Given the description of an element on the screen output the (x, y) to click on. 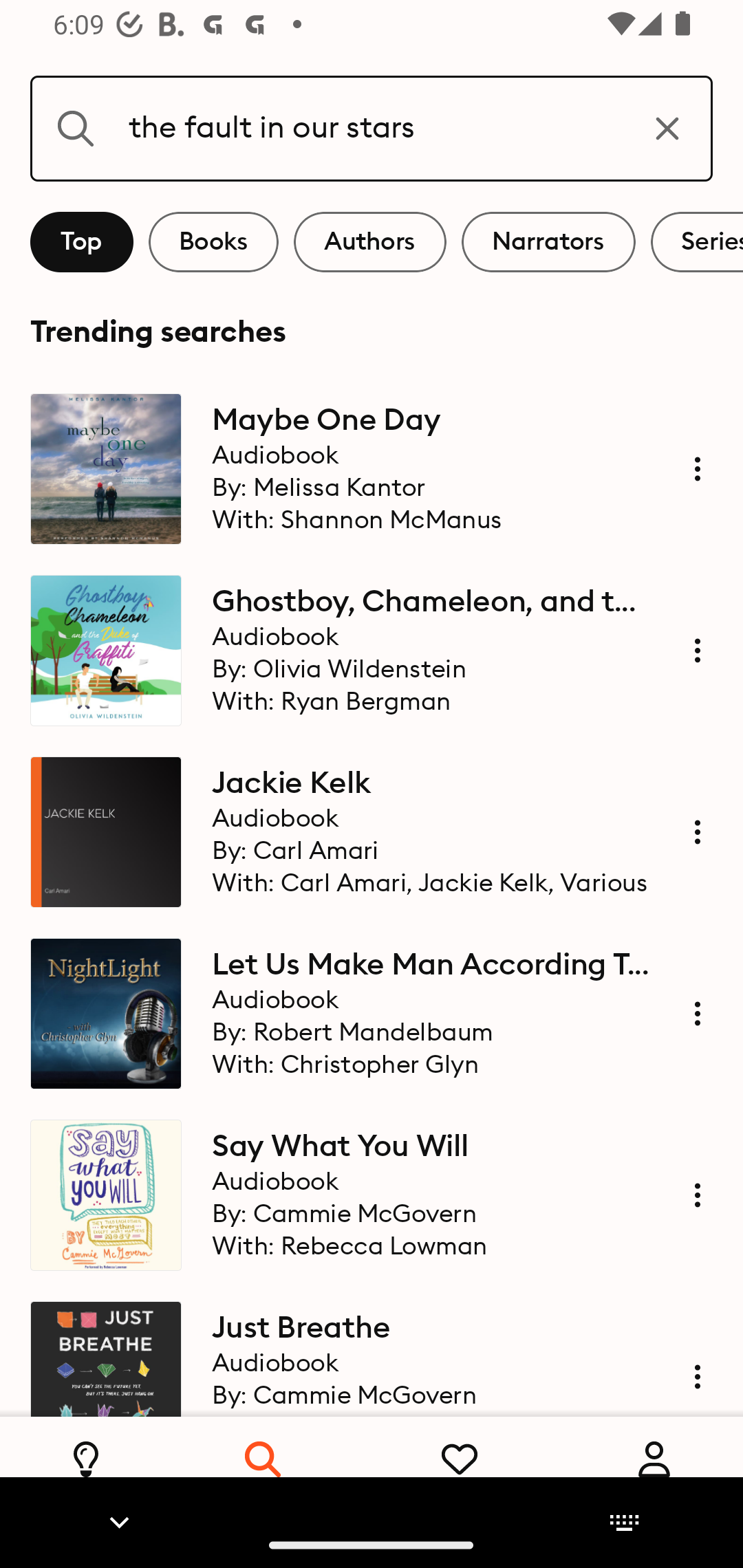
the fault in our stars (371, 128)
Top (81, 241)
Books (213, 241)
Authors (369, 241)
Narrators (548, 241)
Series (696, 241)
